Given the description of an element on the screen output the (x, y) to click on. 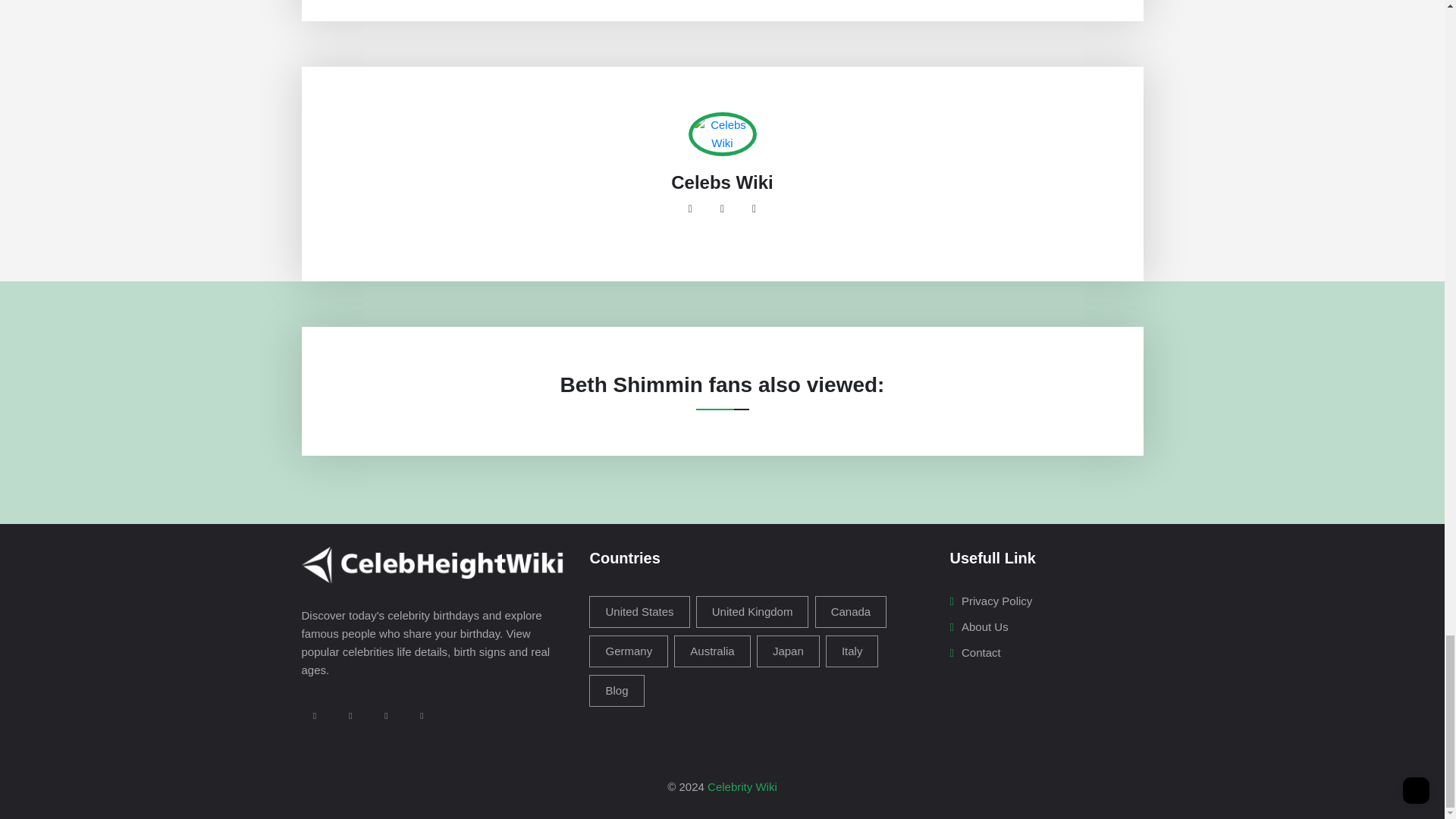
Celebs Wiki (722, 182)
